Given the description of an element on the screen output the (x, y) to click on. 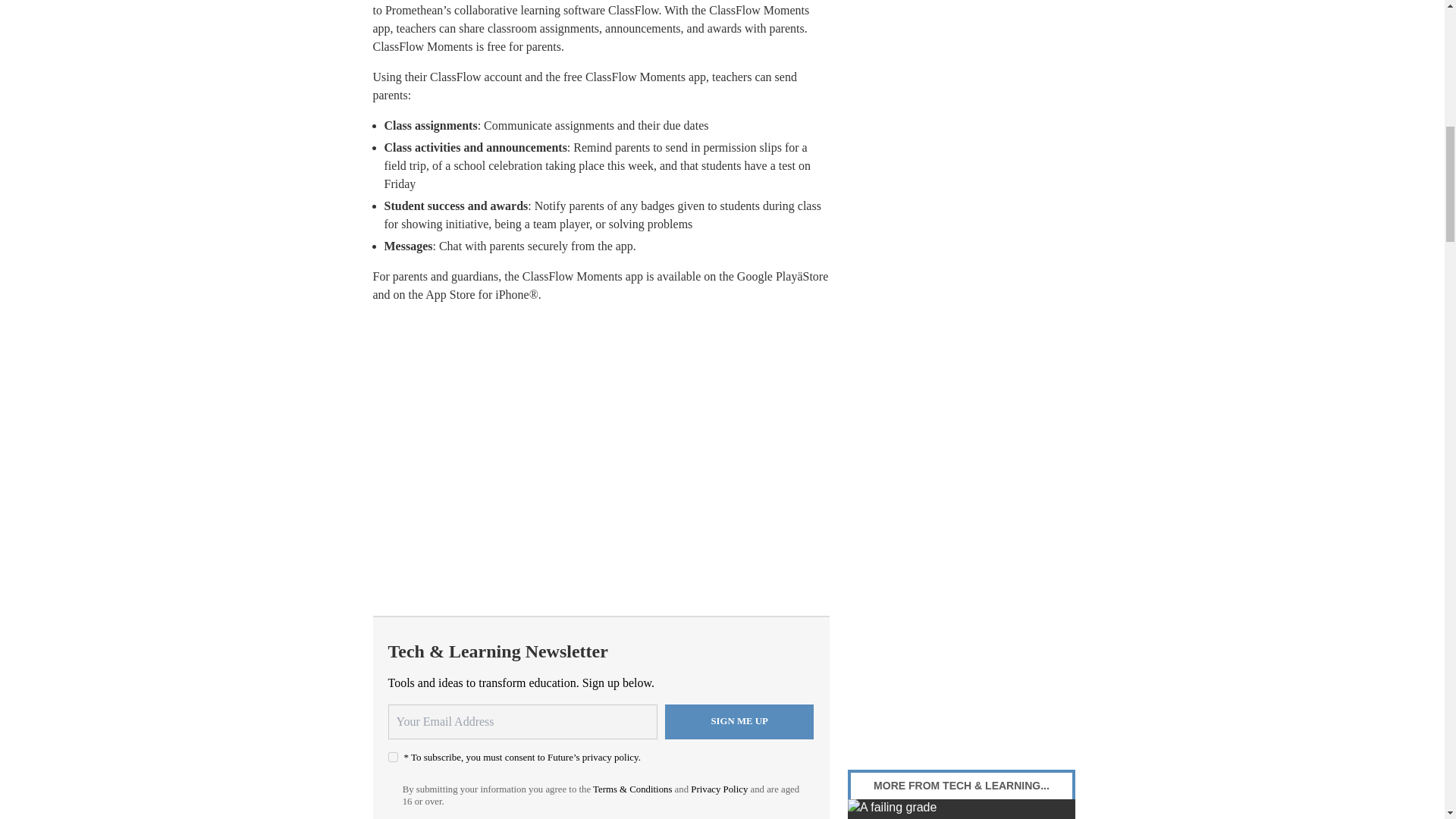
ClassFlow (633, 10)
Privacy Policy (719, 788)
on (392, 757)
Sign me up (739, 721)
Sign me up (739, 721)
